Given the description of an element on the screen output the (x, y) to click on. 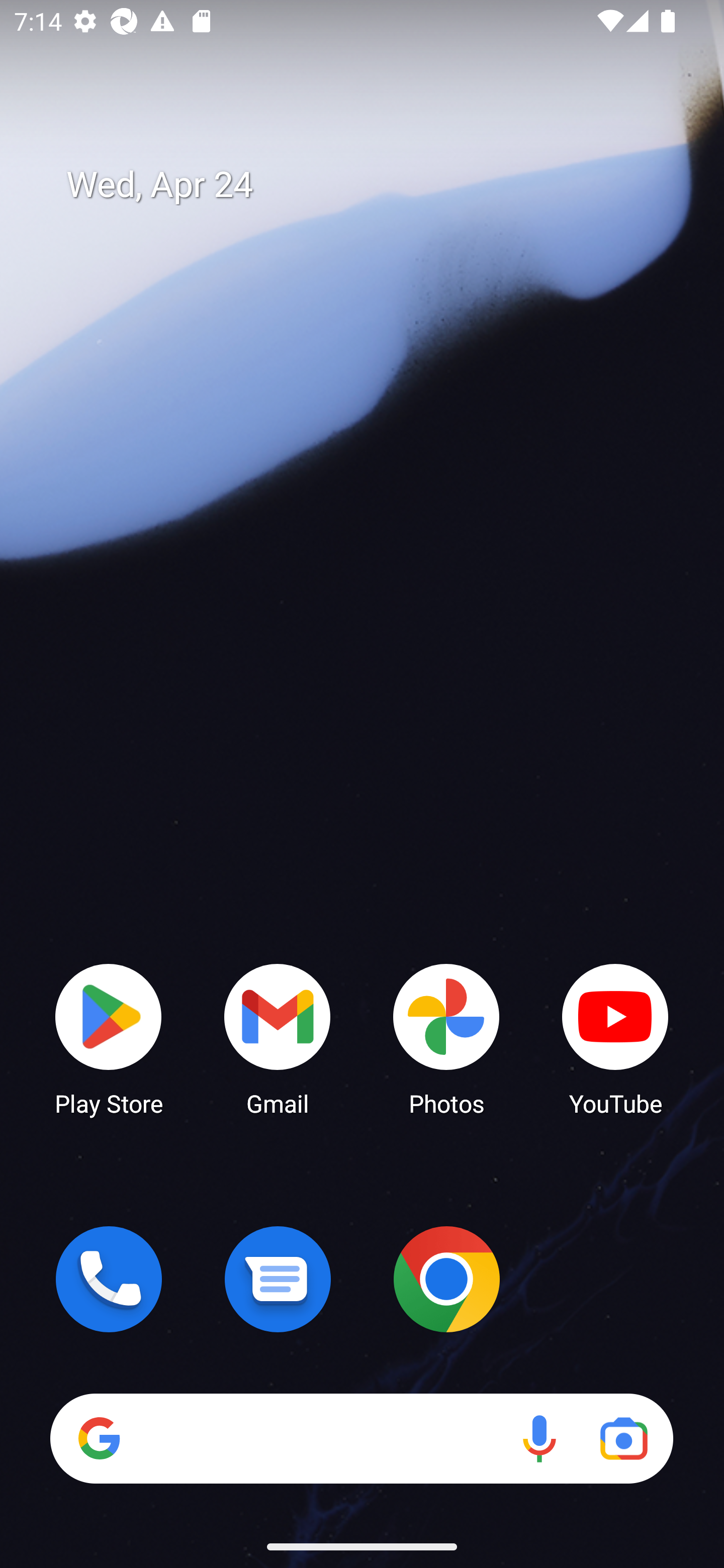
Wed, Apr 24 (375, 184)
Play Store (108, 1038)
Gmail (277, 1038)
Photos (445, 1038)
YouTube (615, 1038)
Phone (108, 1279)
Messages (277, 1279)
Chrome (446, 1279)
Search Voice search Google Lens (361, 1438)
Voice search (539, 1438)
Google Lens (623, 1438)
